Given the description of an element on the screen output the (x, y) to click on. 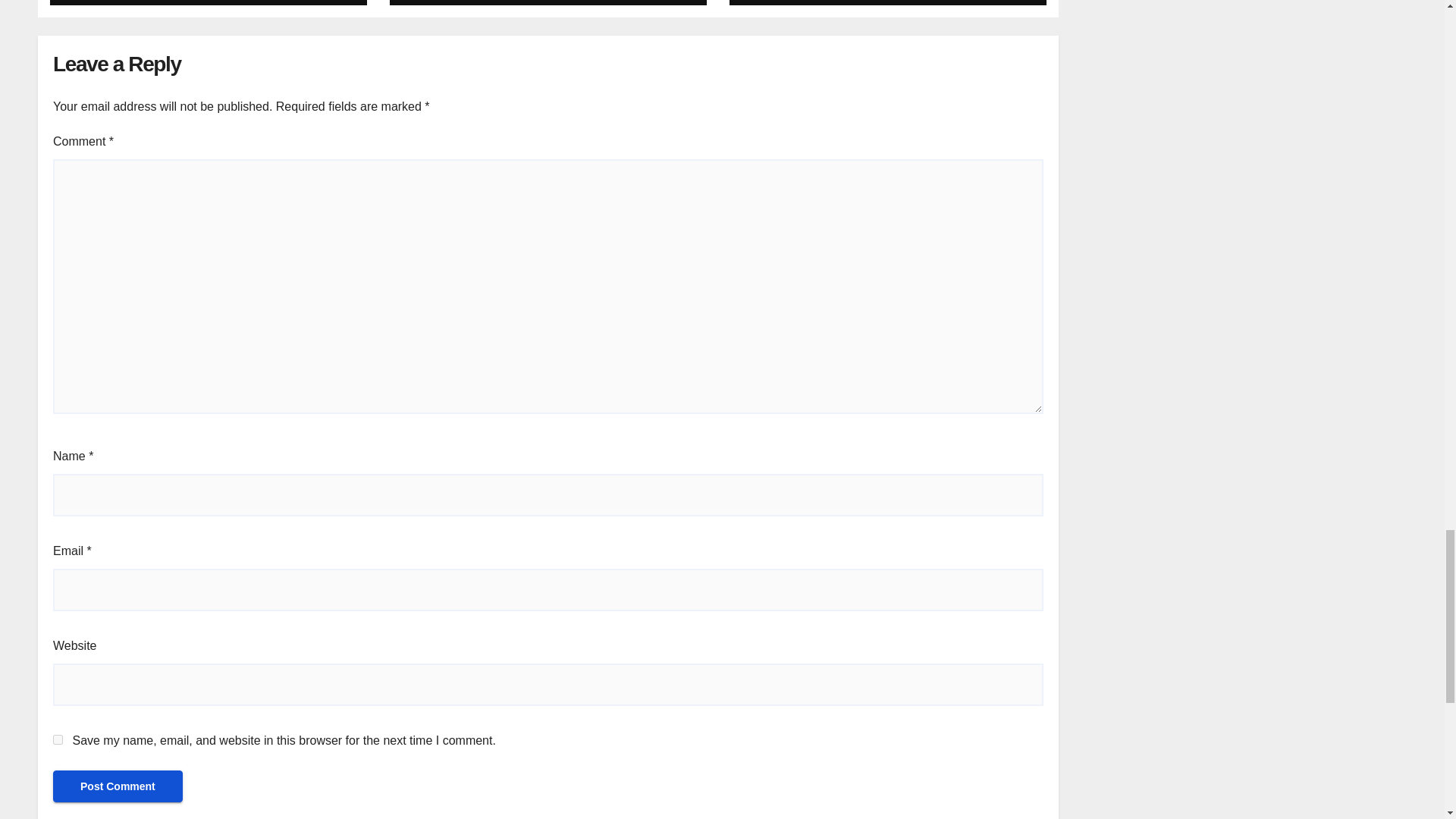
yes (57, 739)
Post Comment (117, 786)
